Given the description of an element on the screen output the (x, y) to click on. 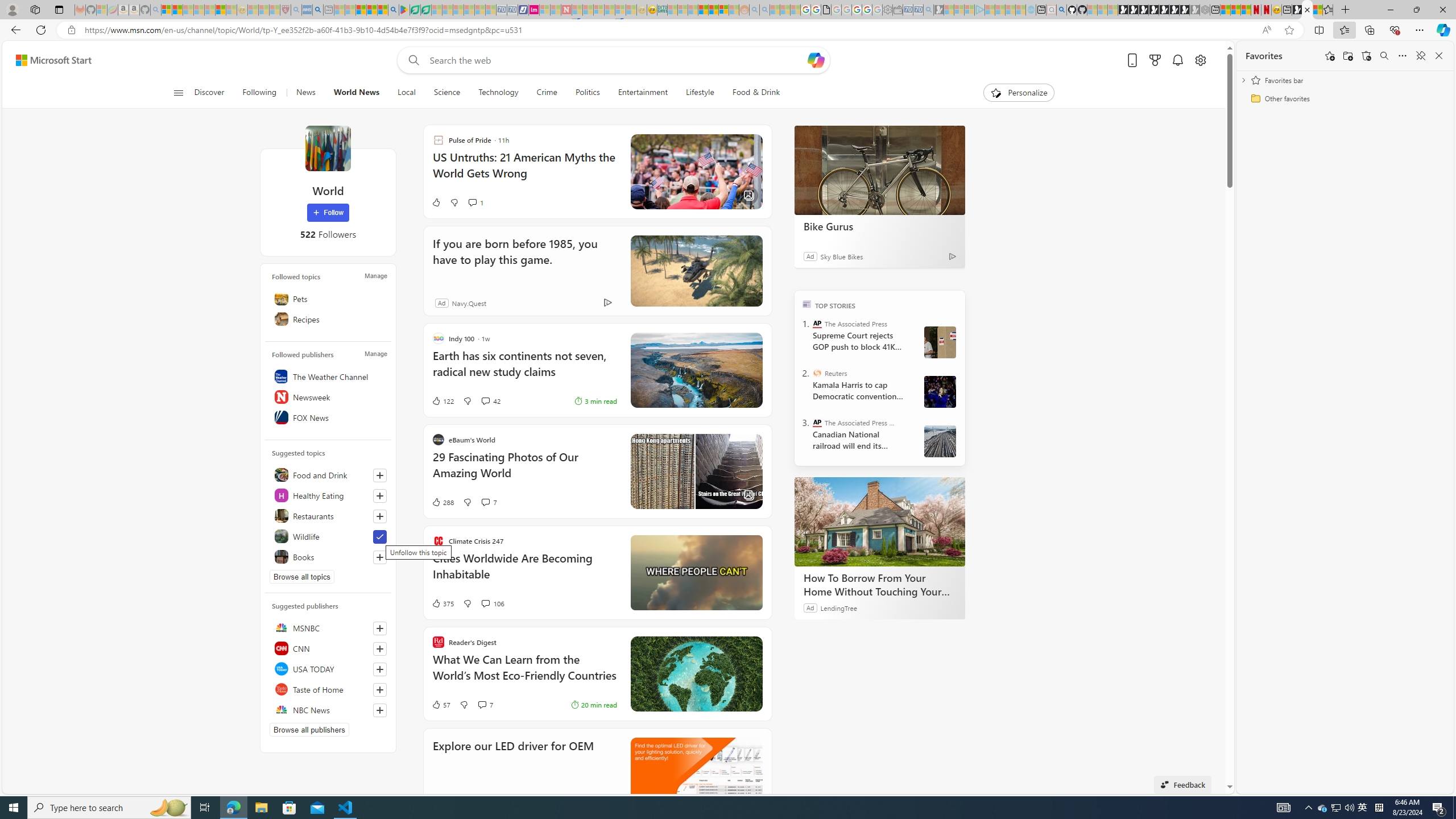
Jobs - lastminute.com Investor Portal (534, 9)
Close favorites (1439, 55)
Newsweek (327, 397)
US Untruths: 21 American Myths the World Gets Wrong (524, 171)
Explore our LED driver for OEM (513, 761)
